Given the description of an element on the screen output the (x, y) to click on. 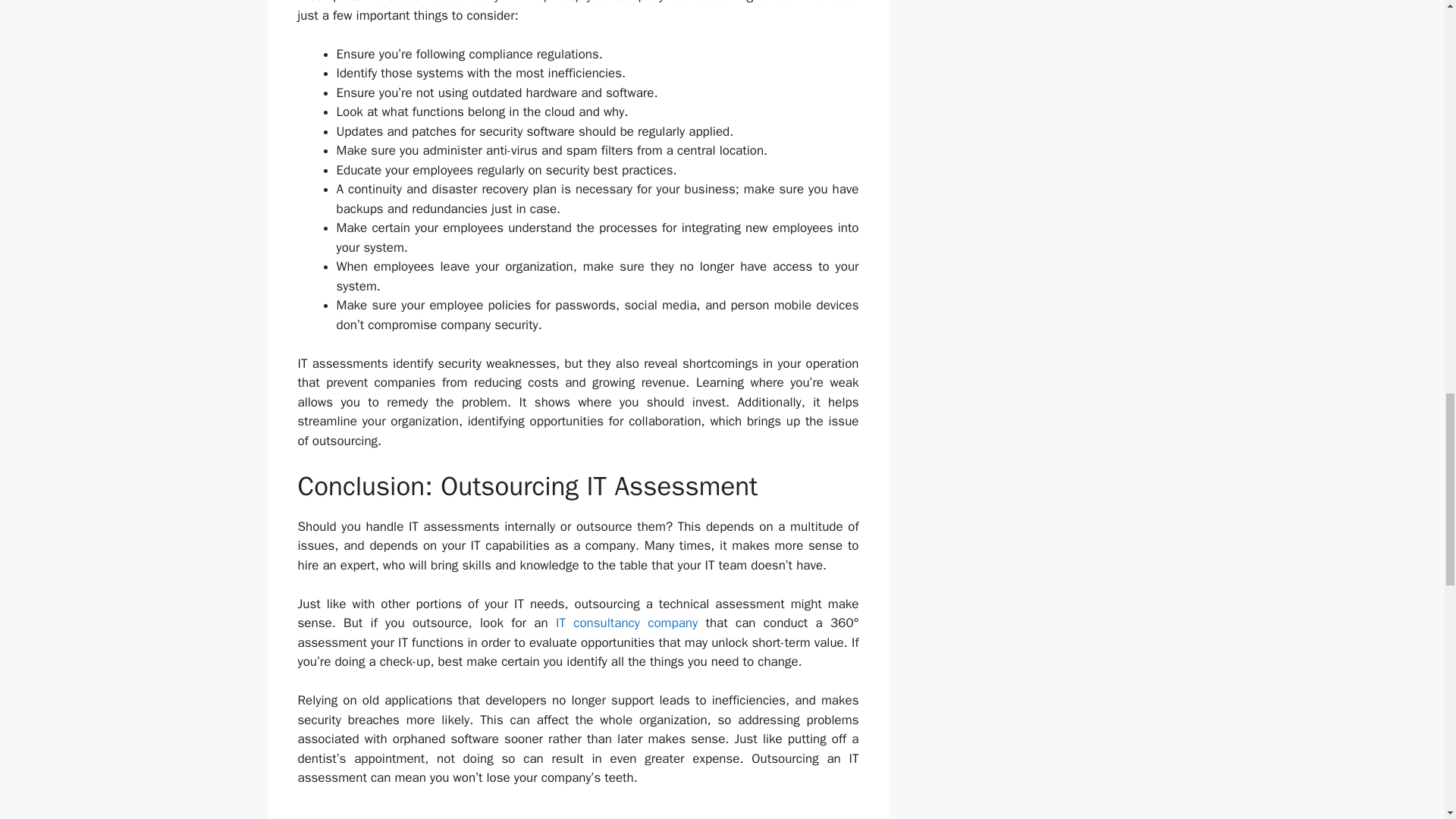
IT consultancy company (626, 622)
